Given the description of an element on the screen output the (x, y) to click on. 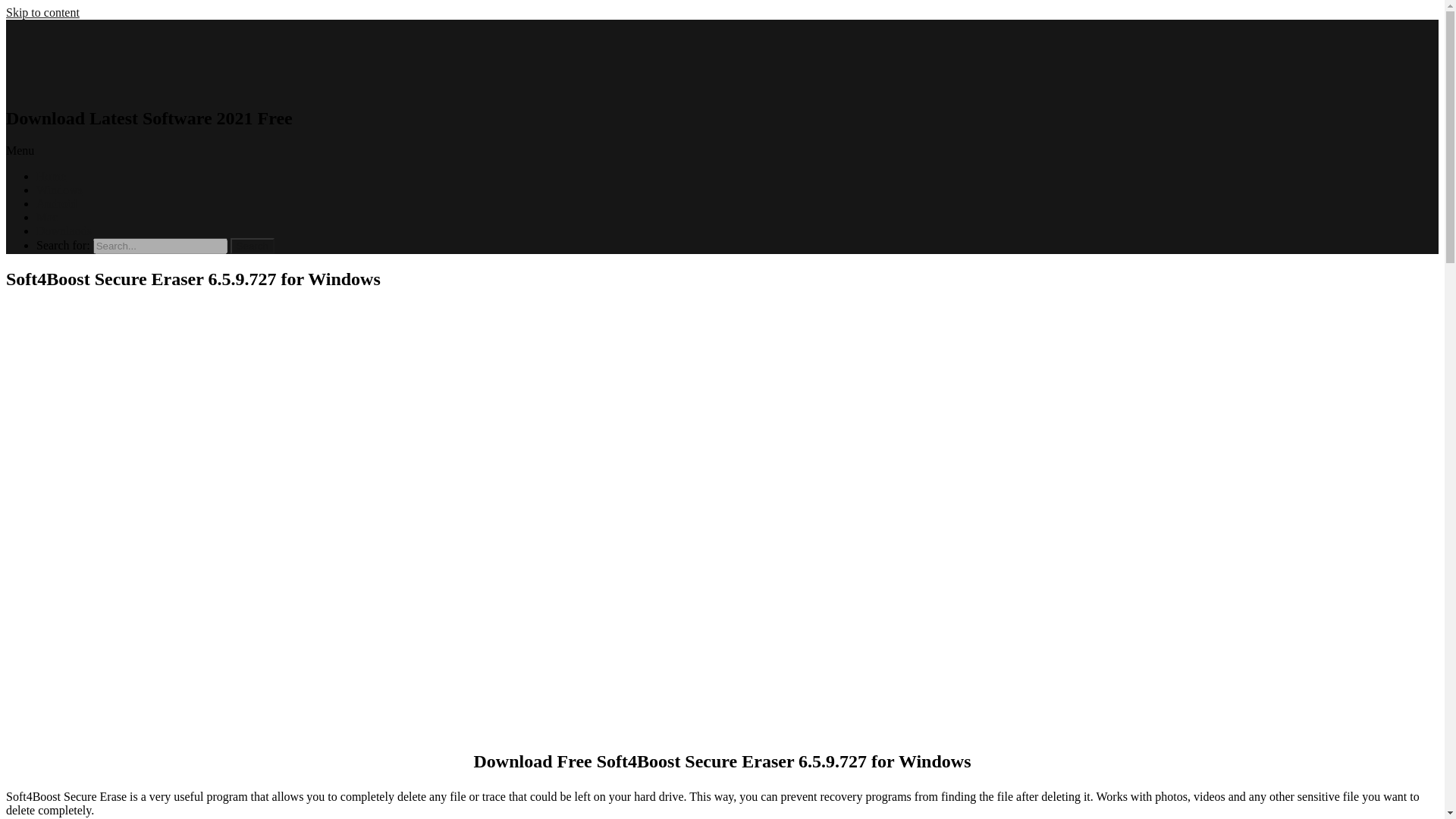
Home (50, 175)
Search (252, 245)
Android (56, 203)
Search (252, 245)
Download Free Software (73, 85)
Windows (59, 189)
Mac (47, 216)
Downlaods (63, 230)
Skip to content (42, 11)
